Given the description of an element on the screen output the (x, y) to click on. 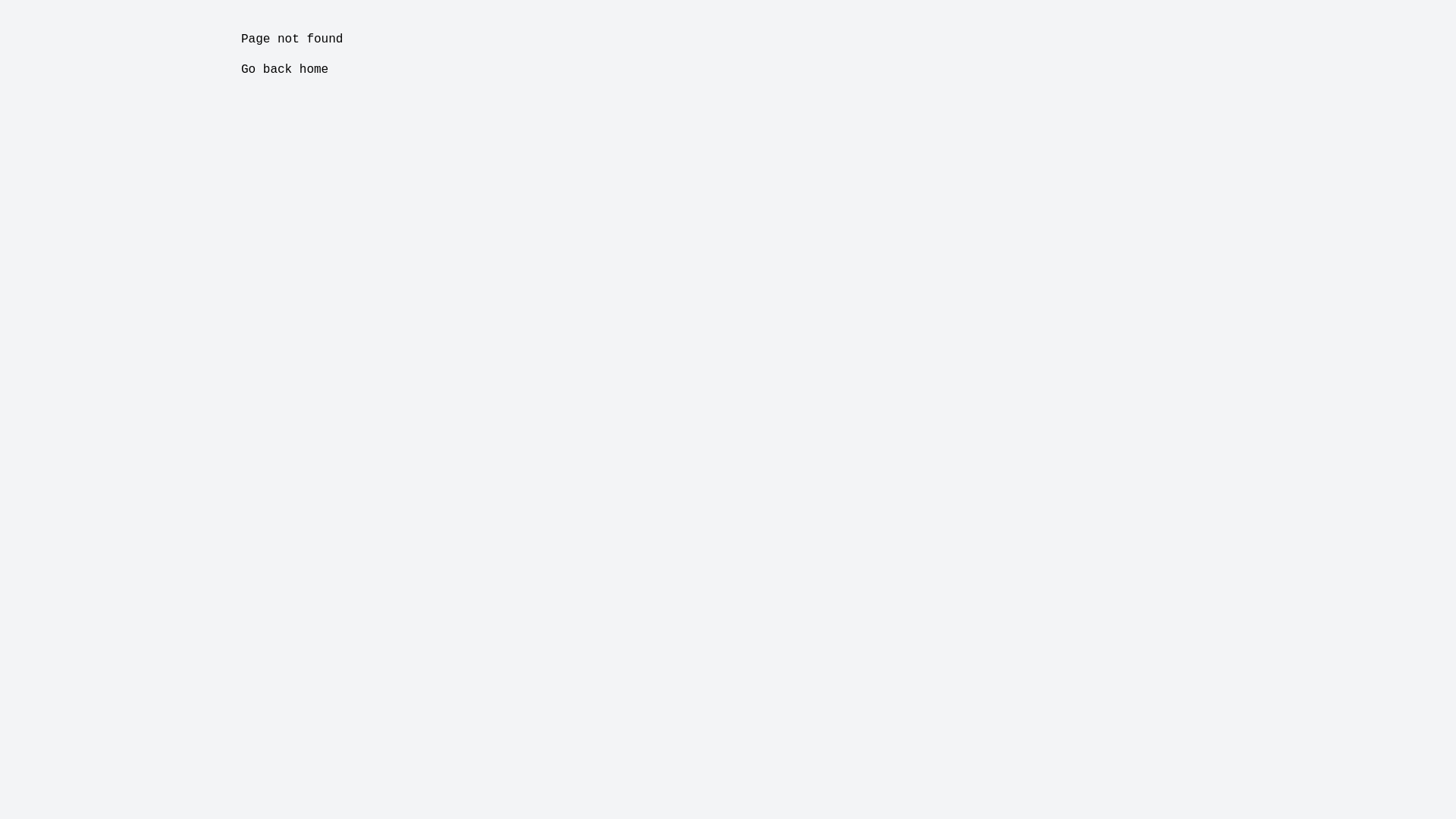
Go back home Element type: text (284, 69)
